Given the description of an element on the screen output the (x, y) to click on. 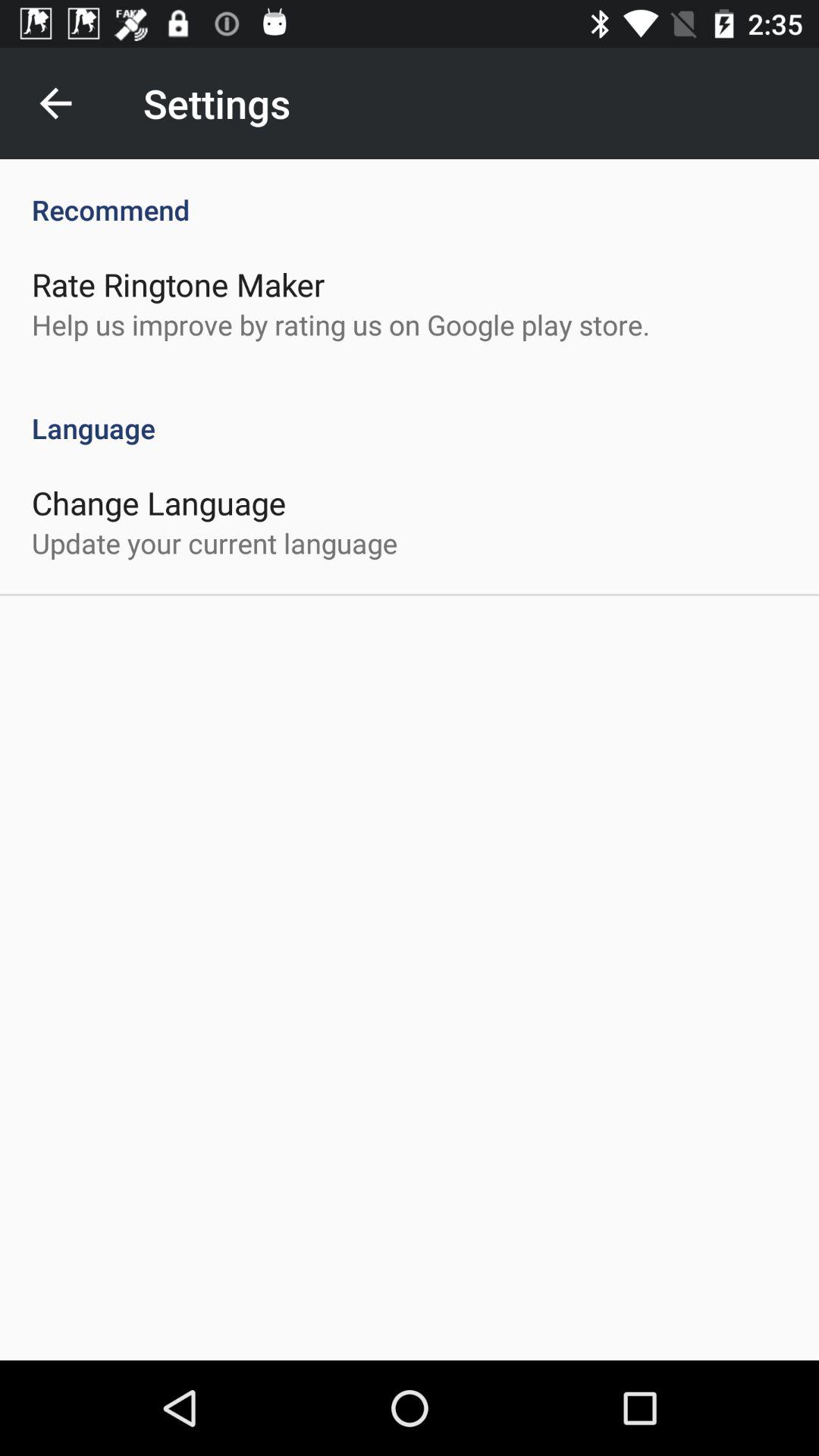
choose icon below the rate ringtone maker icon (340, 324)
